Given the description of an element on the screen output the (x, y) to click on. 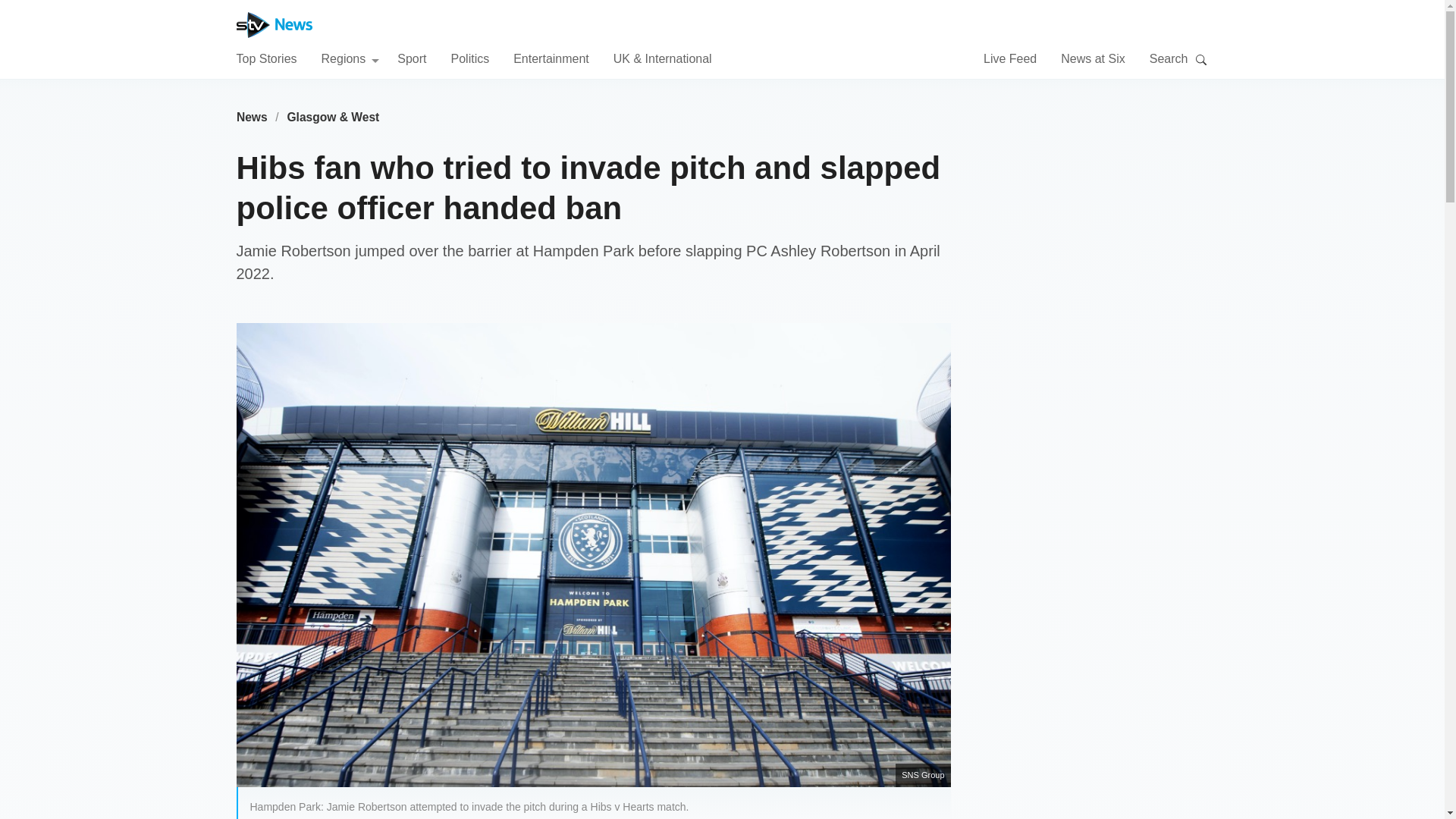
Search (1201, 59)
Live Feed (1010, 57)
Regions (350, 57)
Politics (469, 57)
News at Six (1092, 57)
News (252, 116)
Top Stories (266, 57)
Entertainment (551, 57)
